Given the description of an element on the screen output the (x, y) to click on. 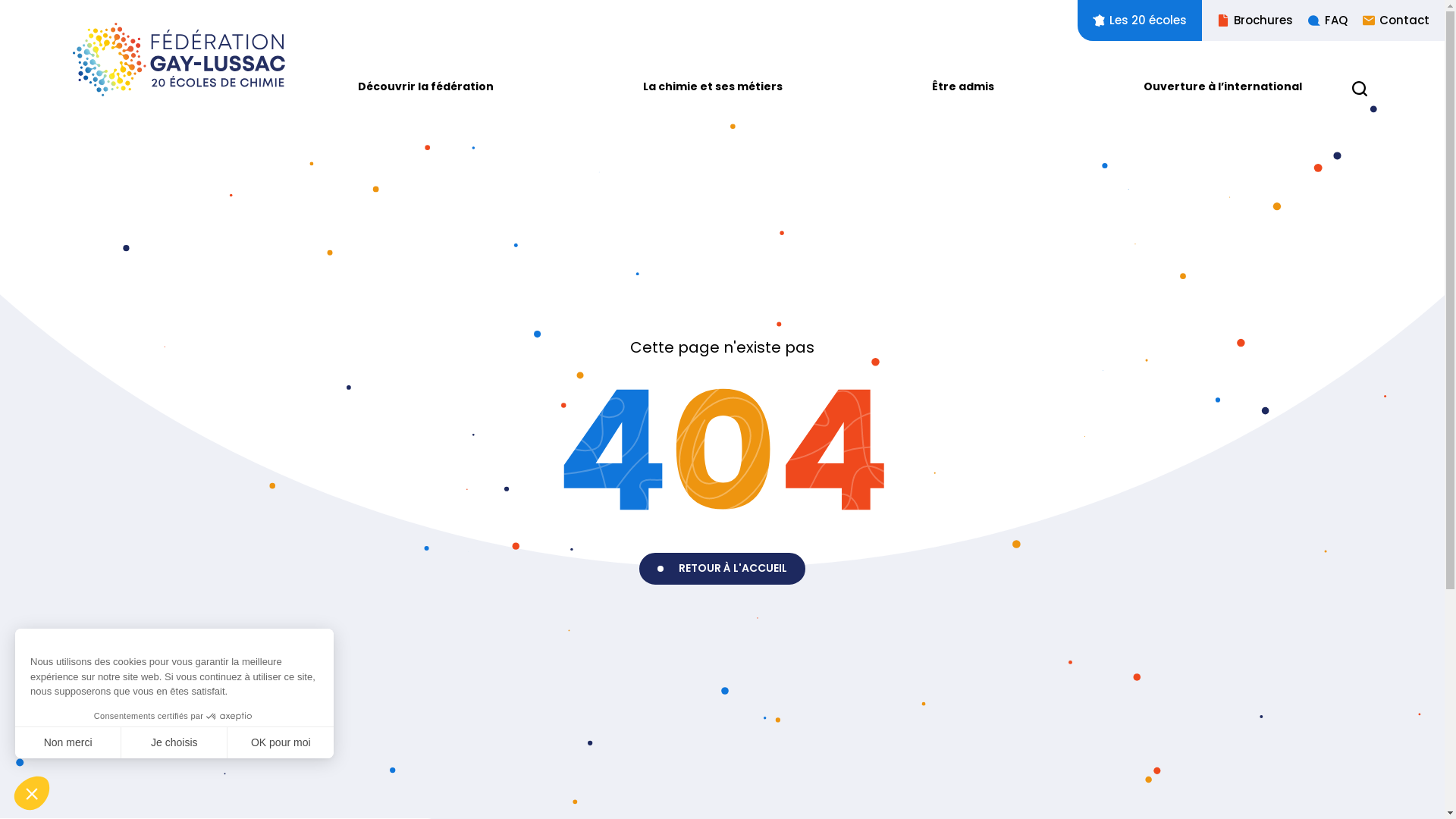
FAQ Element type: text (1319, 20)
Brochures Element type: text (1246, 20)
Contact Element type: text (1388, 20)
